Given the description of an element on the screen output the (x, y) to click on. 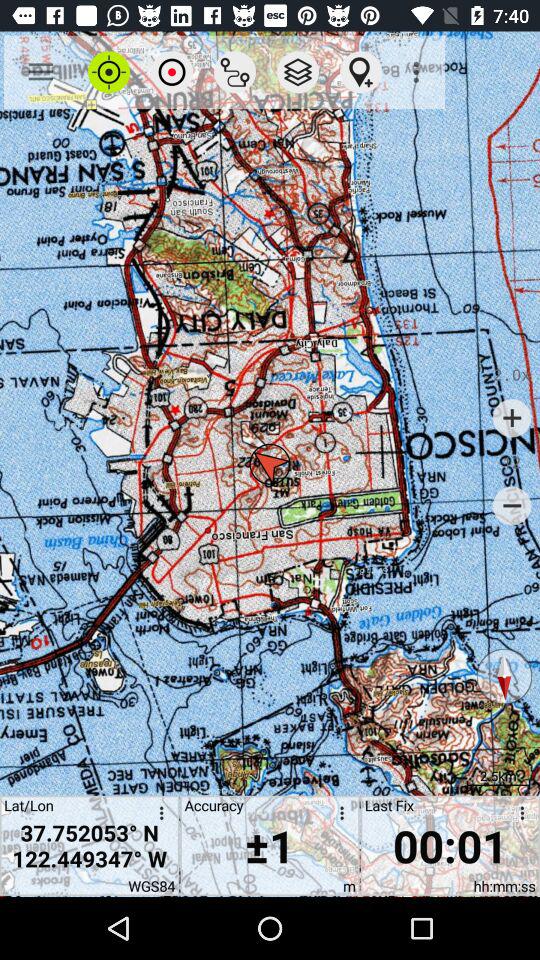
turn on item below 2.0x (512, 418)
